Given the description of an element on the screen output the (x, y) to click on. 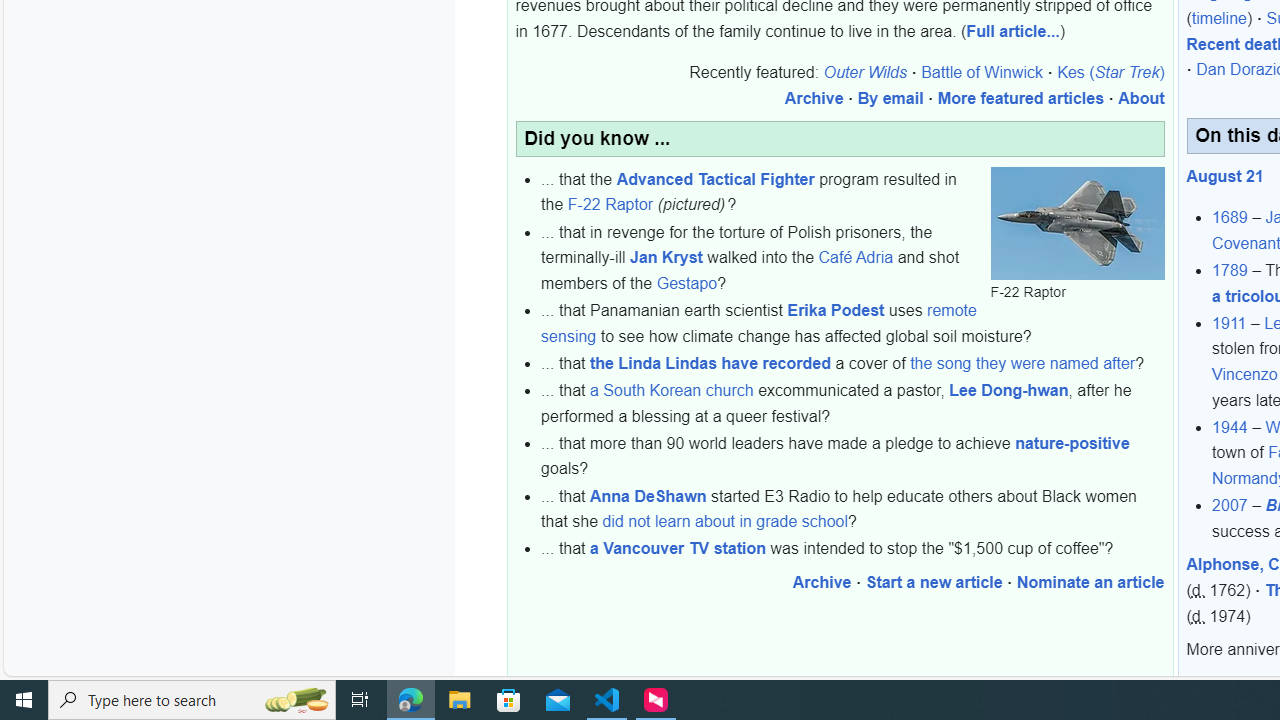
nature-positive (1072, 443)
F-22 Raptor (610, 204)
Jan Kryst (665, 258)
By email (890, 99)
remote sensing (758, 322)
August 21 (1225, 176)
1944 (1230, 427)
a South Korean church (671, 391)
Battle of Winwick (982, 73)
Nominate an article (1090, 582)
